Given the description of an element on the screen output the (x, y) to click on. 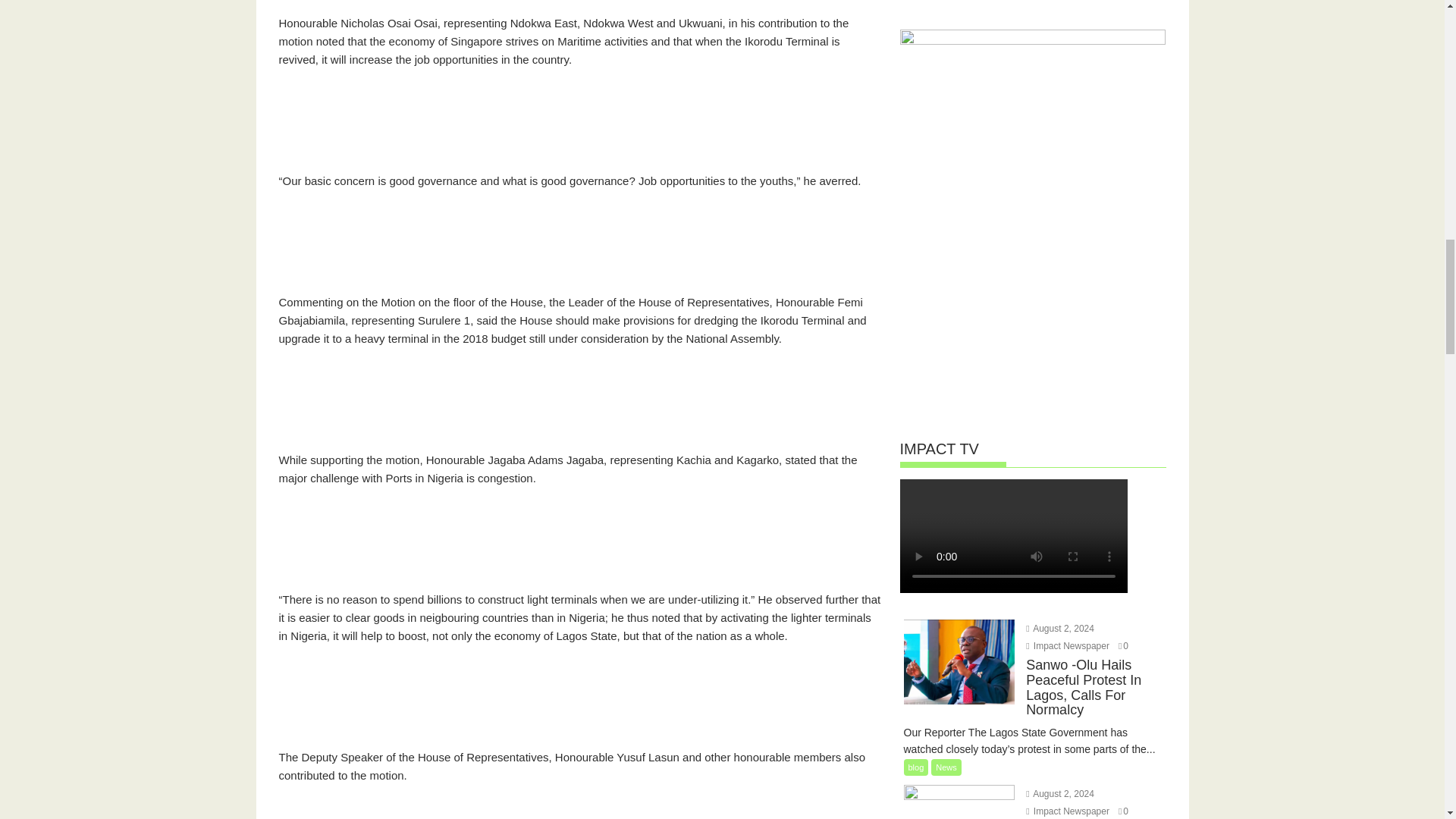
Impact Newspaper (1067, 810)
Impact Newspaper (1067, 645)
